Given the description of an element on the screen output the (x, y) to click on. 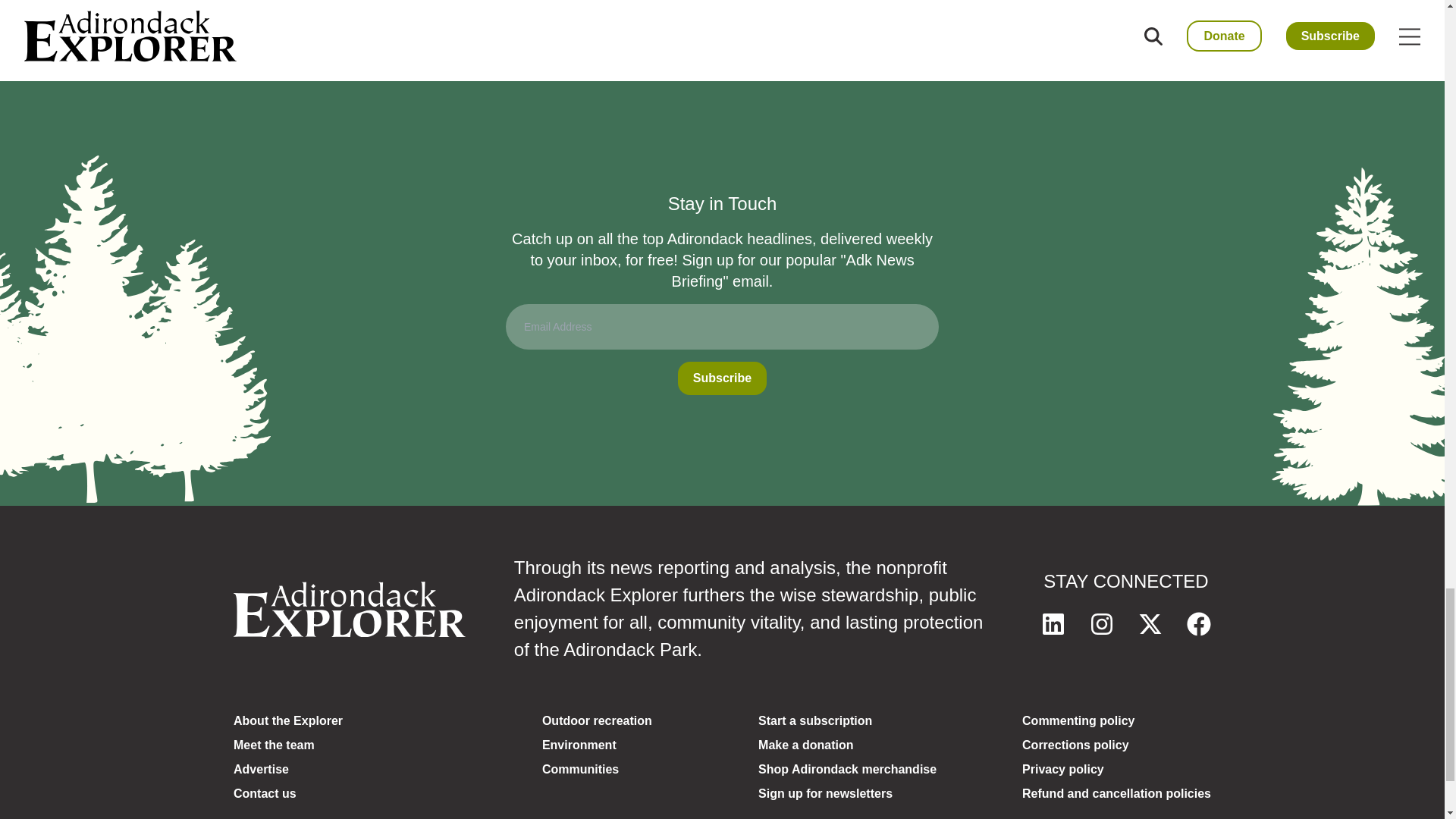
Facebook (1198, 623)
Instagram (1101, 623)
Post Comment (493, 47)
LinkedIn (1053, 623)
